Given the description of an element on the screen output the (x, y) to click on. 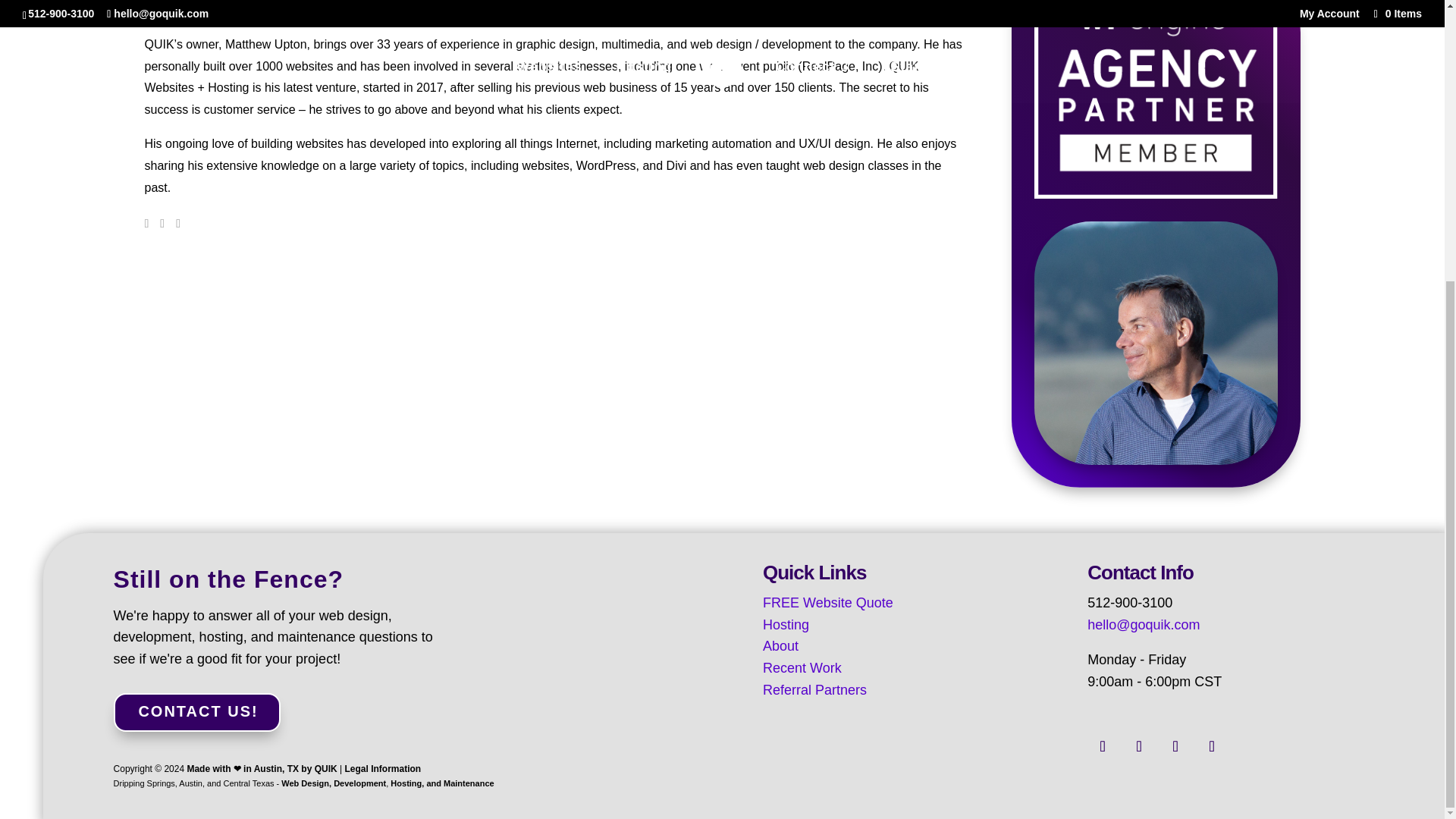
Referral Partners (814, 689)
About (779, 645)
Recent Work (801, 667)
Follow on X (1139, 746)
Hosting, and Maintenance (441, 782)
WP Engine - Agency Partner Program Member - image (1155, 99)
Web Design, Development (333, 782)
Follow on LinkedIn (1102, 746)
FREE Website Quote (827, 602)
Legal Information (381, 768)
austin wordpress expert matthew upton photo (1155, 343)
Hosting (785, 624)
Follow on Instagram (1175, 746)
Follow on Youtube (1211, 746)
